Given the description of an element on the screen output the (x, y) to click on. 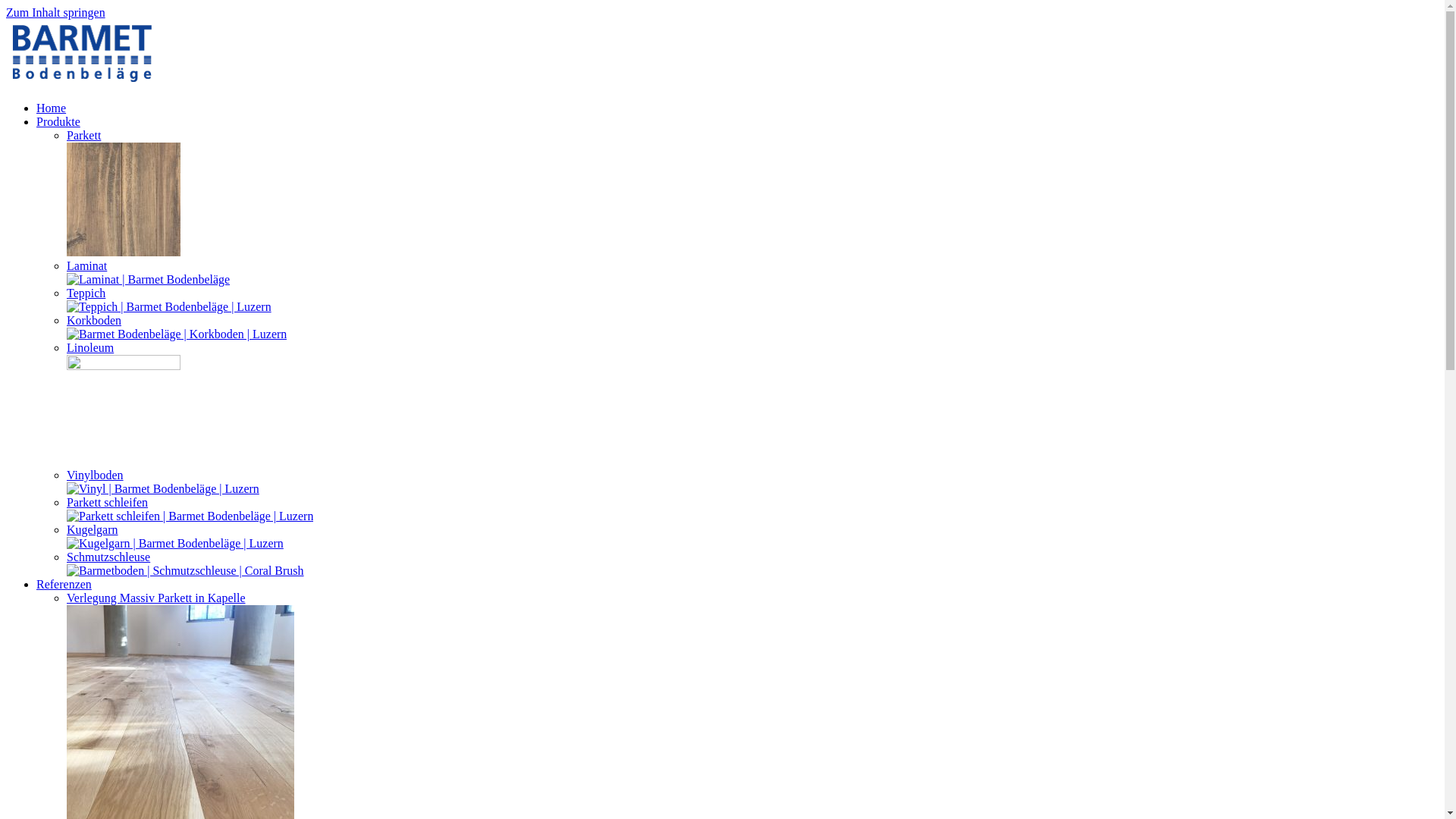
Produkte Element type: text (58, 121)
Verlegung Massiv Parkett in Kapelle Element type: text (155, 597)
Vinylboden Element type: text (94, 474)
Parkett Element type: text (83, 134)
Schmutzschleuse Element type: text (108, 556)
Korkboden Element type: text (93, 319)
Teppich Element type: text (85, 292)
Parkett schleifen Element type: text (106, 501)
Home Element type: text (50, 107)
Kugelgarn Element type: text (92, 529)
Linoleum Element type: text (89, 347)
Zum Inhalt springen Element type: text (55, 12)
Referenzen Element type: text (63, 583)
Laminat Element type: text (86, 265)
